Given the description of an element on the screen output the (x, y) to click on. 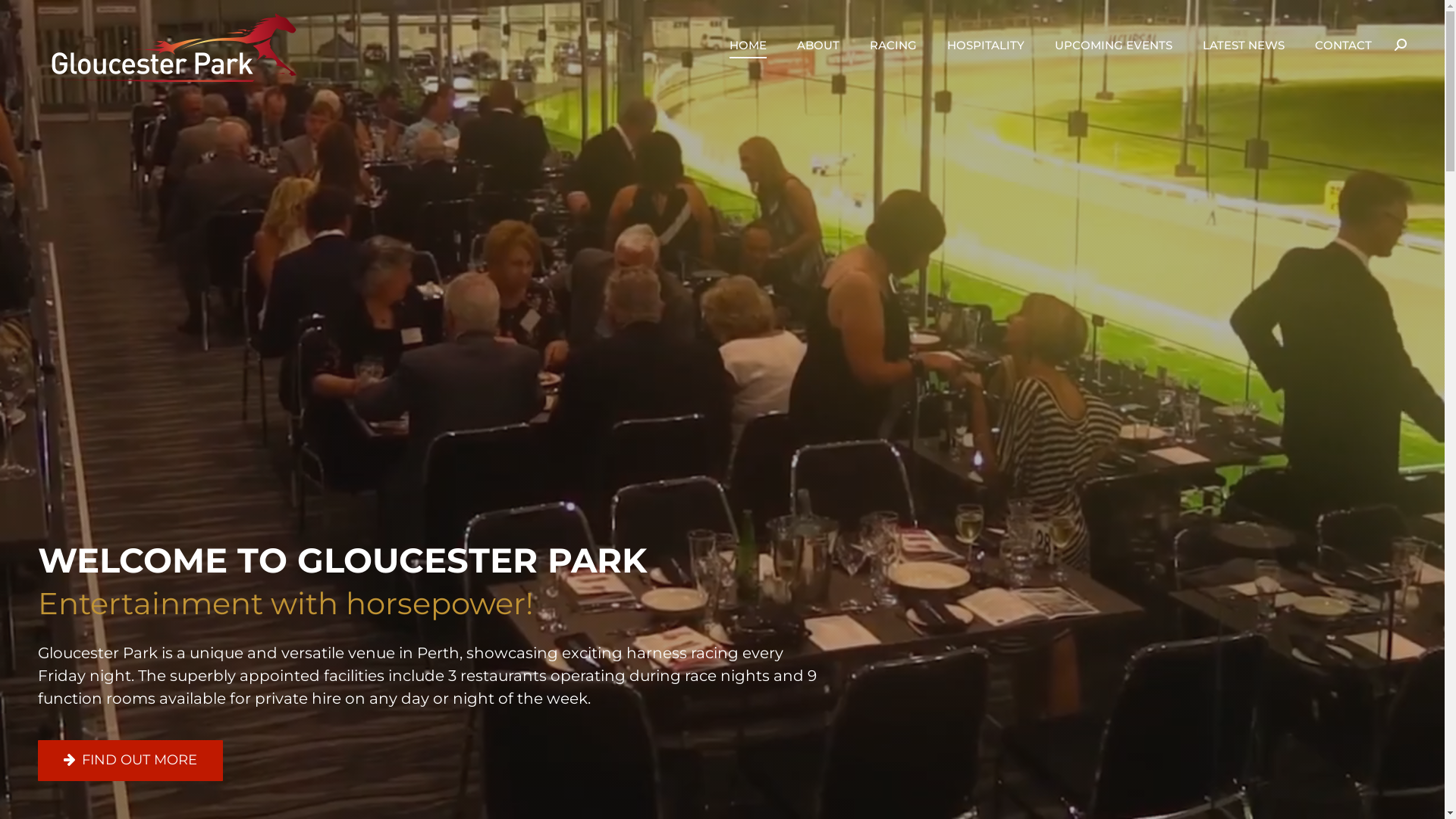
HOSPITALITY Element type: text (985, 44)
Go! Element type: text (25, 16)
HOME Element type: text (747, 44)
RACING Element type: text (892, 44)
UPCOMING EVENTS Element type: text (1113, 44)
FIND OUT MORE Element type: text (129, 760)
ABOUT Element type: text (818, 44)
LATEST NEWS Element type: text (1243, 44)
CONTACT Element type: text (1342, 44)
